Given the description of an element on the screen output the (x, y) to click on. 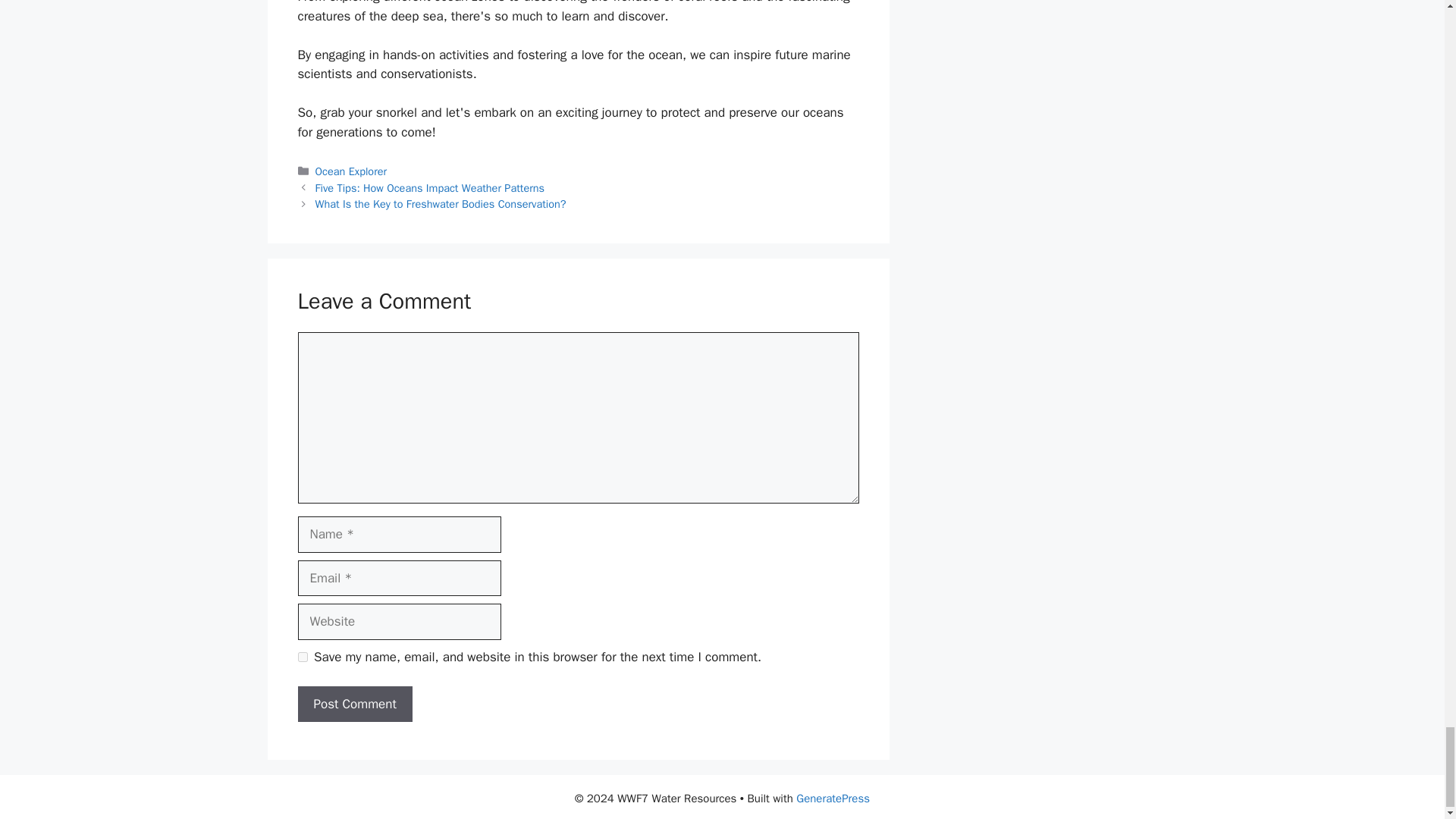
yes (302, 656)
Post Comment (354, 704)
Previous (429, 187)
GeneratePress (832, 798)
Post Comment (354, 704)
Next (440, 203)
What Is the Key to Freshwater Bodies Conservation? (440, 203)
Ocean Explorer (351, 171)
Five Tips: How Oceans Impact Weather Patterns (429, 187)
